Given the description of an element on the screen output the (x, y) to click on. 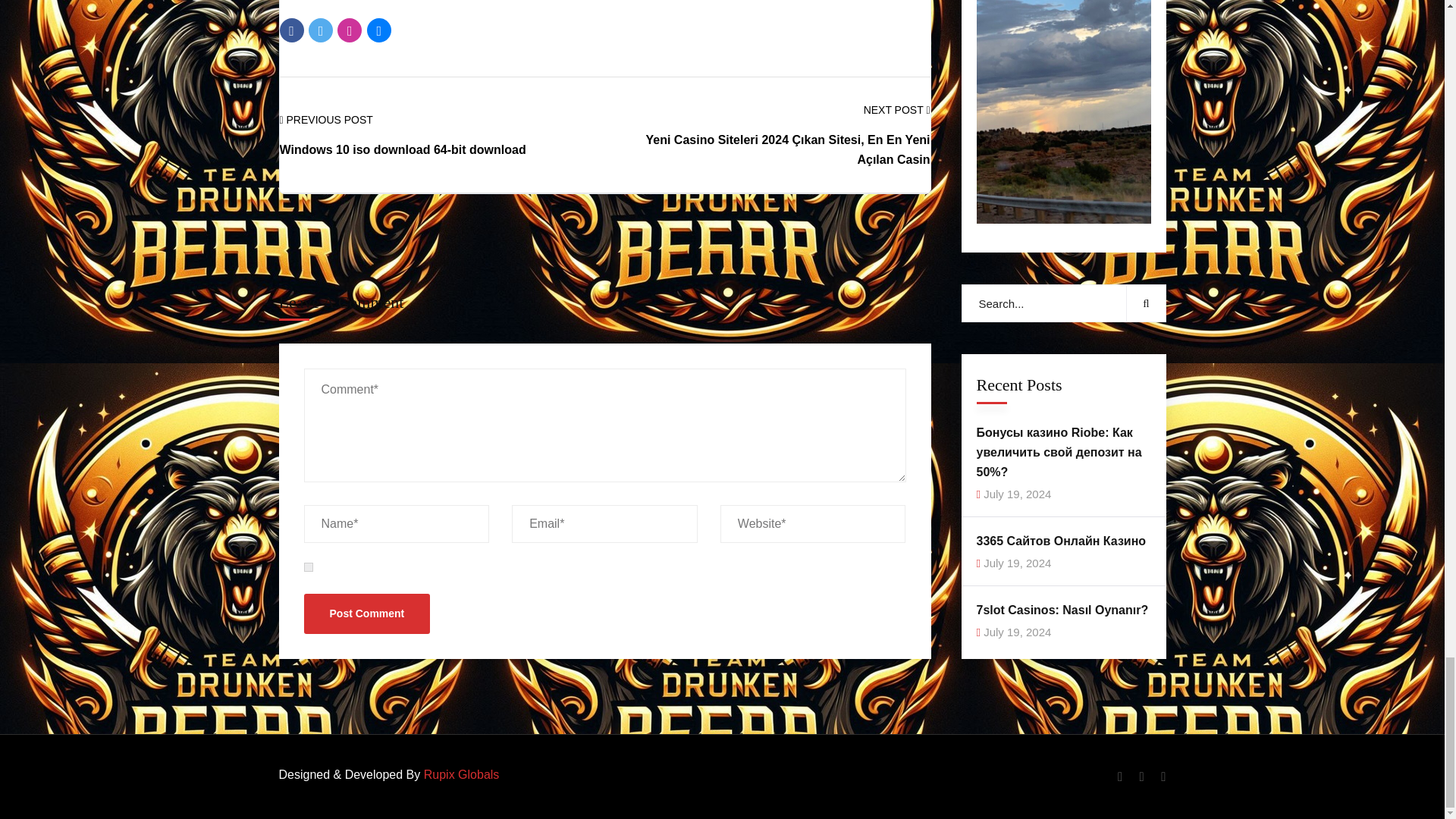
Post Comment (365, 613)
Twitter (320, 30)
PREVIOUS POST (325, 119)
NEXT POST (896, 109)
Facebook (290, 30)
Post Comment (365, 613)
Windows 10 iso download 64-bit download (402, 149)
LinkedIn (378, 30)
Pinterest (349, 30)
Rupix Globals (461, 774)
